Given the description of an element on the screen output the (x, y) to click on. 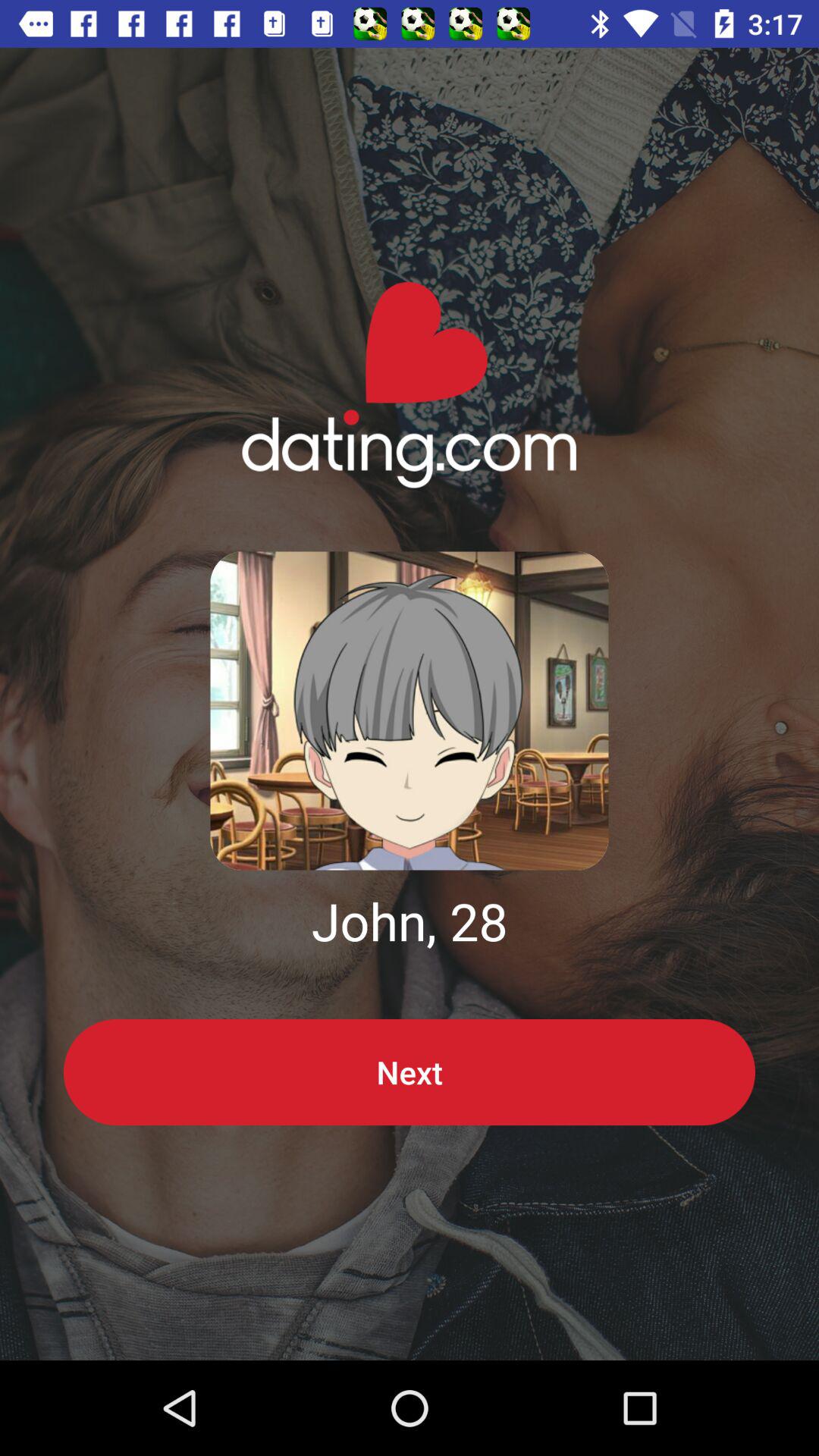
profile image (409, 710)
